Given the description of an element on the screen output the (x, y) to click on. 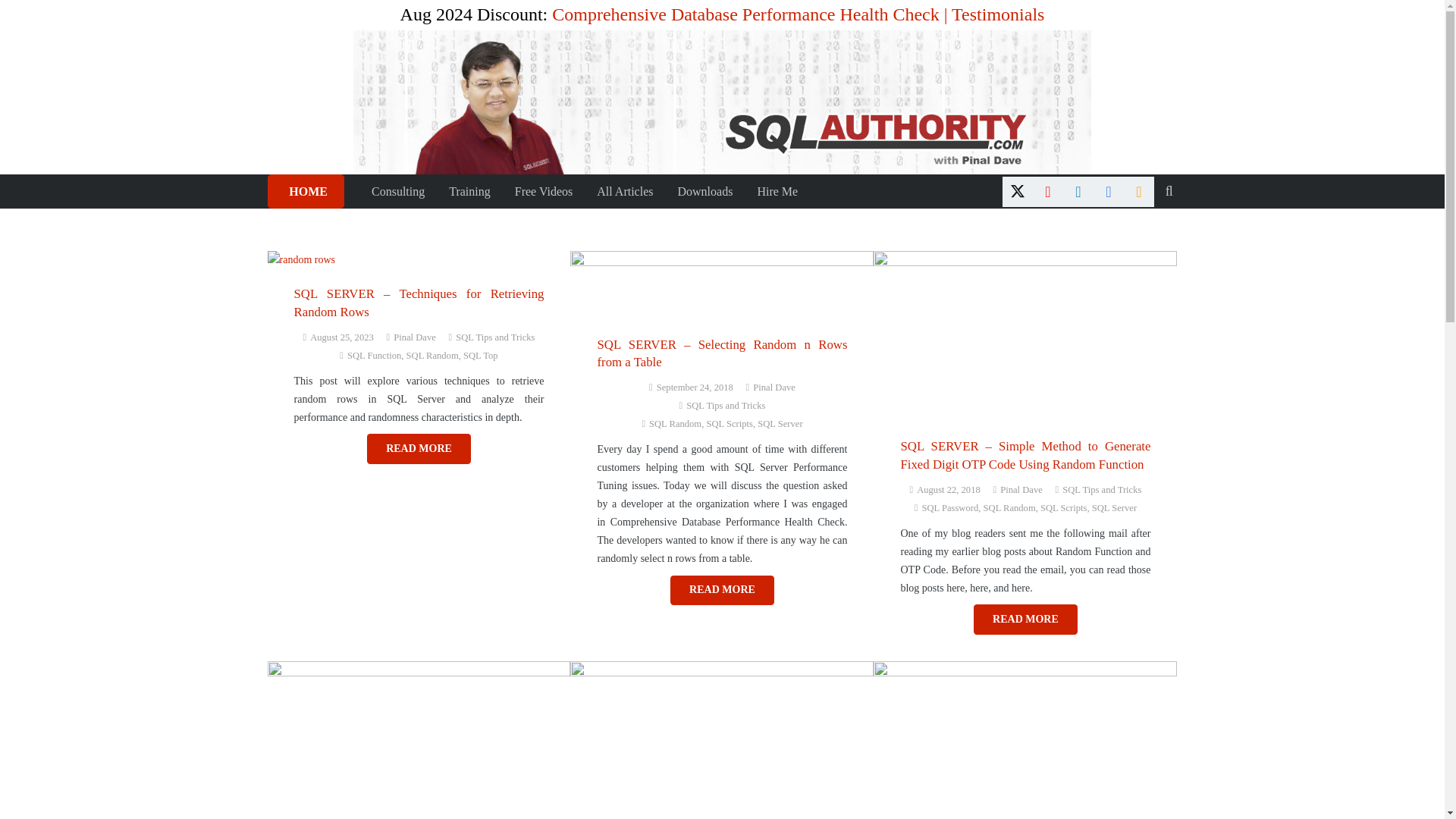
Twitter (1017, 191)
HOME (304, 191)
Pinal Dave (773, 387)
Consulting (397, 191)
SQL Random (432, 355)
Comprehensive Database Performance Health Check (745, 14)
SQL Tips and Tricks (494, 337)
Testimonials (997, 14)
Facebook (1108, 191)
Hire Me (776, 191)
